Given the description of an element on the screen output the (x, y) to click on. 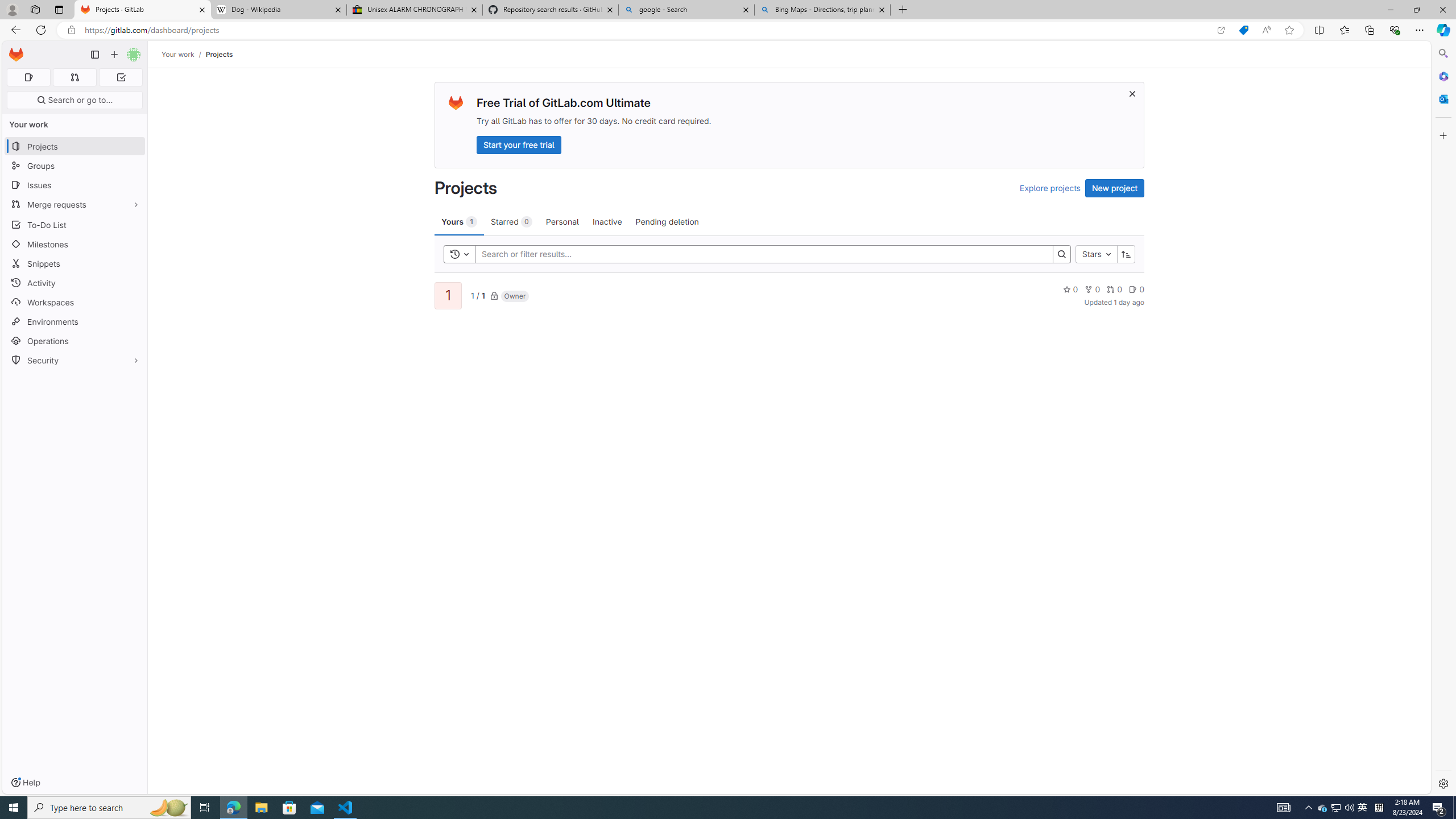
To-Do list 0 (120, 76)
